Given the description of an element on the screen output the (x, y) to click on. 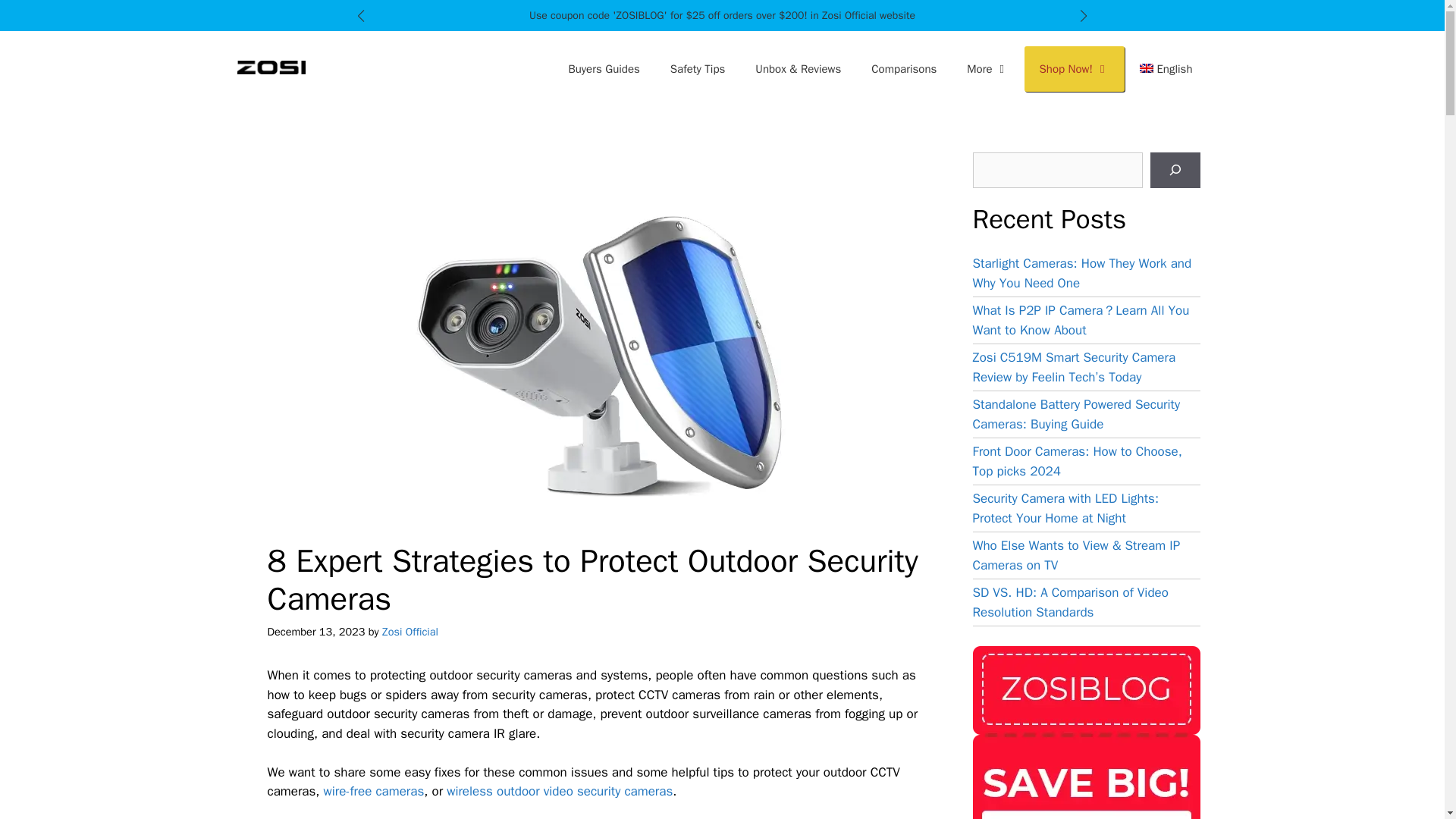
View all posts by Zosi Official (409, 631)
English (1166, 67)
Comparisons (904, 67)
Zosi Blog (269, 66)
Buyers Guides (603, 67)
Safety Tips (698, 67)
English (1166, 67)
Zosi Blog (269, 67)
Shop Now! (1074, 67)
More (987, 67)
